Given the description of an element on the screen output the (x, y) to click on. 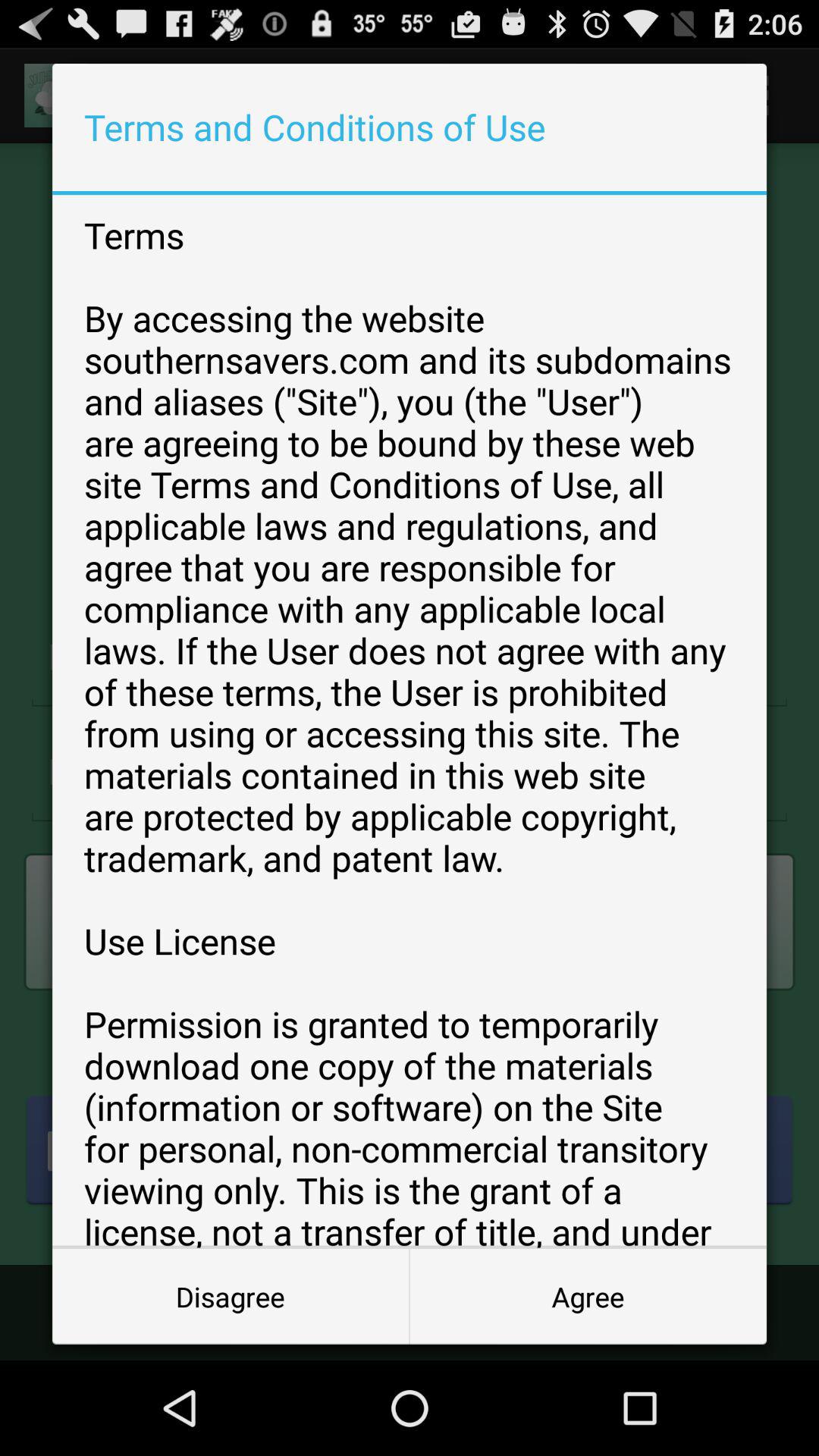
click disagree (230, 1296)
